Given the description of an element on the screen output the (x, y) to click on. 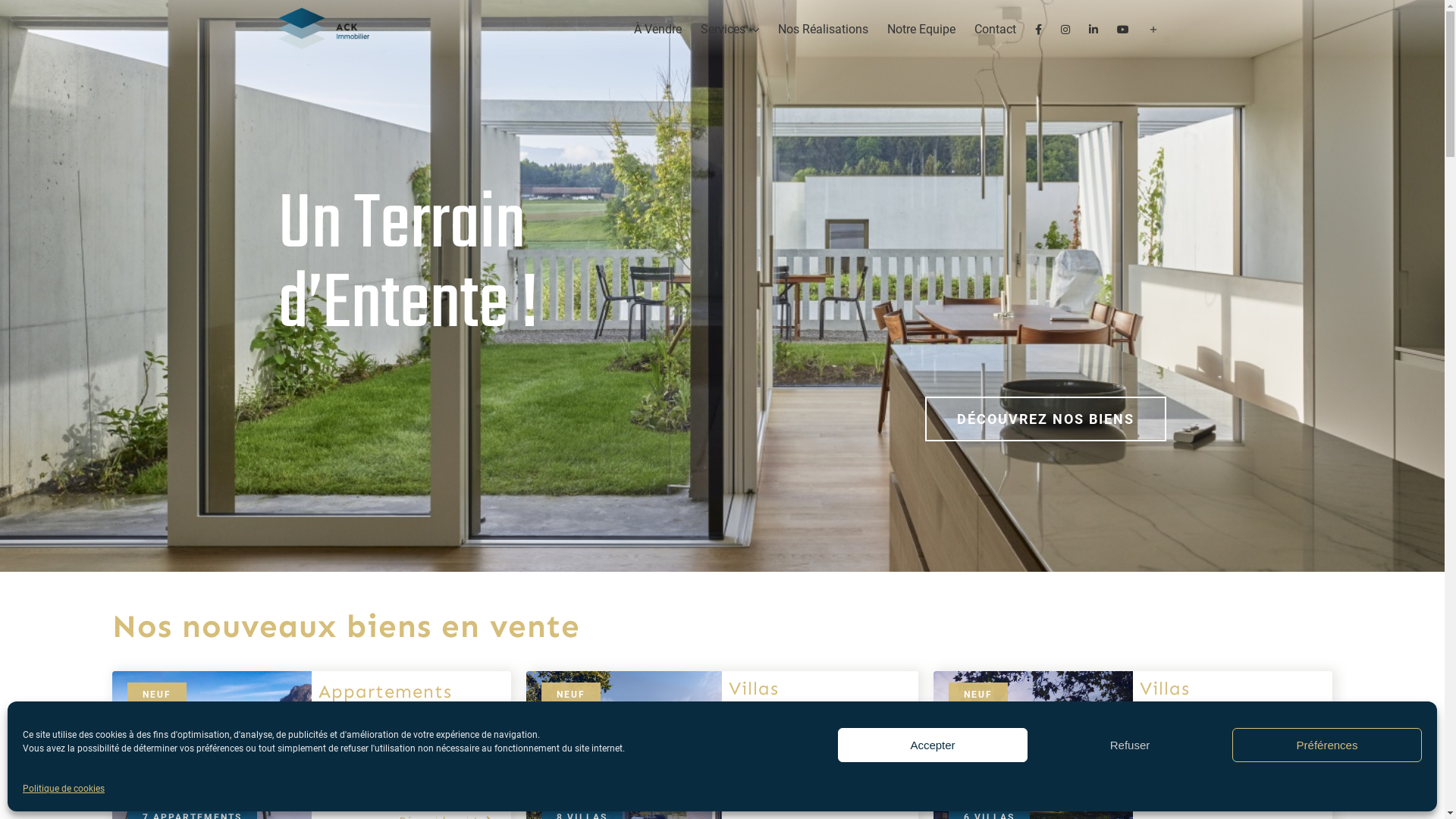
NEUF Element type: text (570, 694)
Refuser Element type: text (1129, 745)
NEUF Element type: text (977, 694)
Services Element type: text (729, 28)
NEUF Element type: text (156, 694)
Accepter Element type: text (932, 745)
Politique de cookies Element type: text (63, 788)
Notre Equipe Element type: text (921, 28)
Contact Element type: text (994, 28)
